Given the description of an element on the screen output the (x, y) to click on. 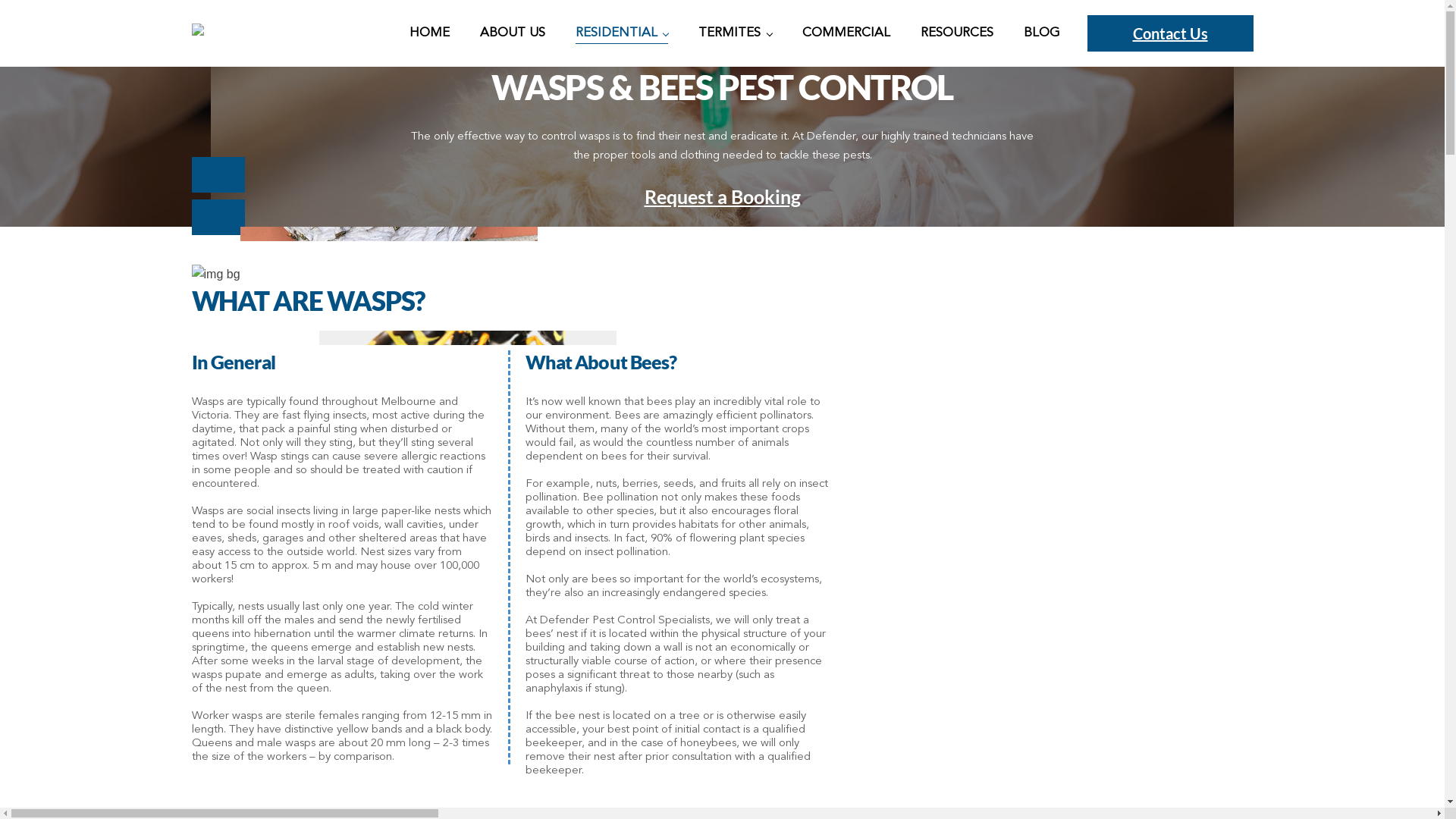
Contact Us Element type: text (1170, 33)
ABOUT US Element type: text (512, 32)
BLOG Element type: text (1041, 32)
RESOURCES Element type: text (956, 32)
Request a Booking Element type: text (721, 195)
HOME Element type: text (429, 32)
COMMERCIAL Element type: text (846, 32)
RESIDENTIAL Element type: text (621, 32)
TERMITES Element type: text (734, 32)
